Given the description of an element on the screen output the (x, y) to click on. 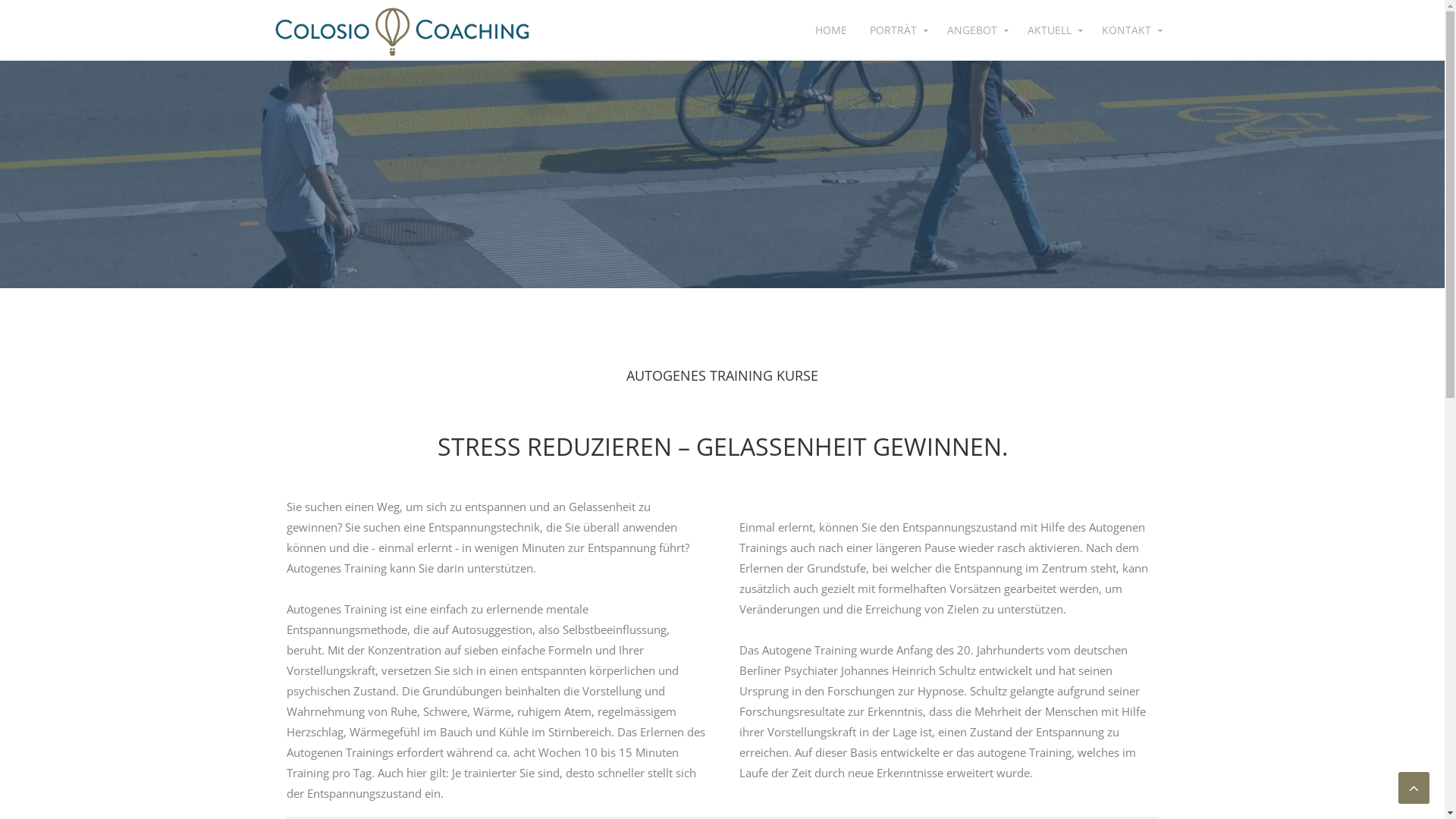
KONTAKT Element type: text (1130, 30)
ANGEBOT Element type: text (975, 30)
HOME Element type: text (830, 30)
AKTUELL Element type: text (1053, 30)
